Given the description of an element on the screen output the (x, y) to click on. 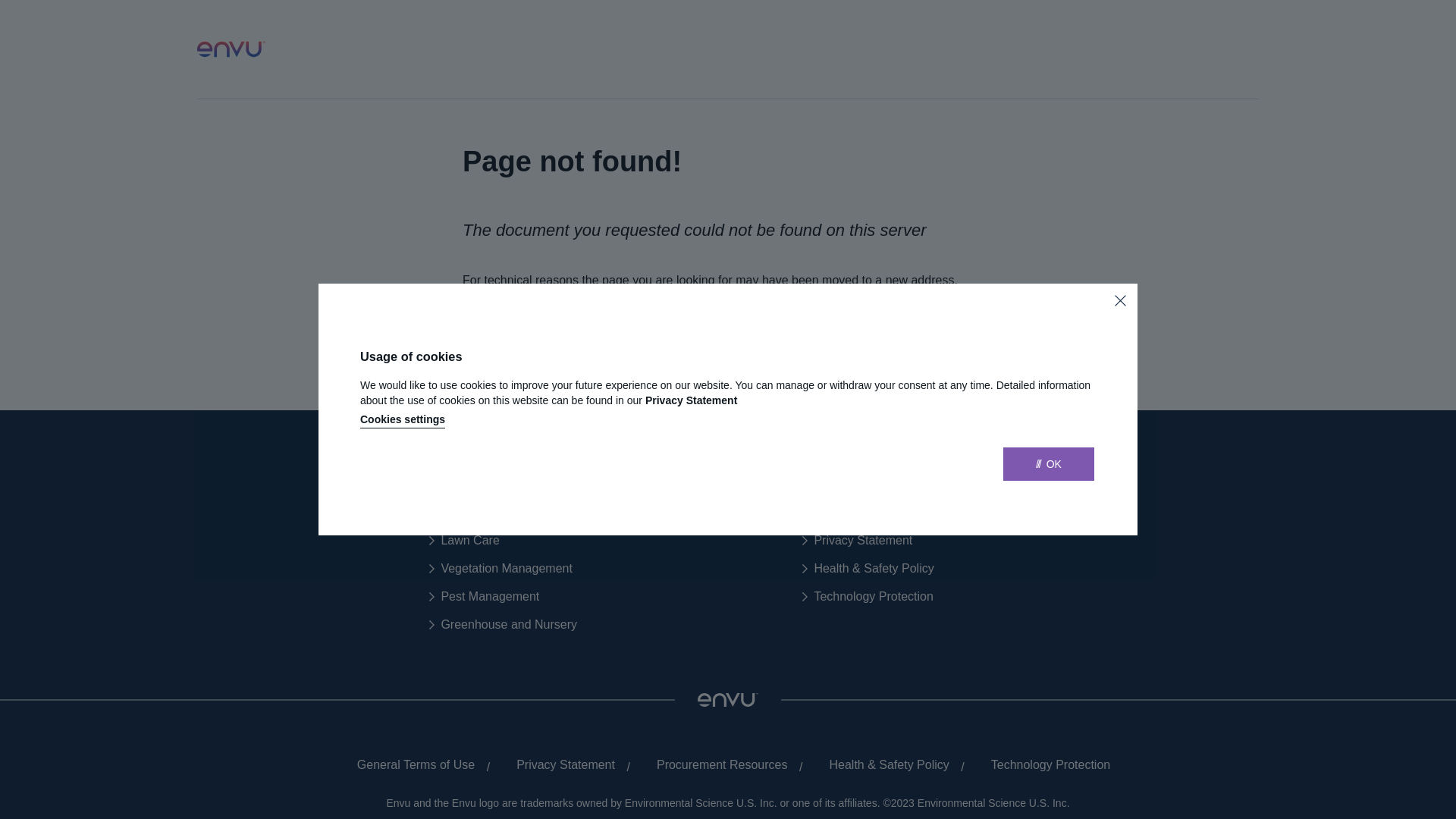
Health & Safety Policy Element type: text (882, 764)
Cookies settings Element type: text (402, 420)
General Terms of Use Element type: text (866, 512)
Lawn Care Element type: text (463, 540)
Pest Management Element type: text (484, 596)
Privacy Statement Element type: text (560, 764)
Golf Course Element type: text (467, 512)
Privacy Statement Element type: text (857, 540)
General Terms of Use Element type: text (409, 764)
Health & Safety Policy Element type: text (867, 568)
Vegetation Management Element type: text (500, 568)
Procurement Resources Element type: text (716, 764)
Greenhouse and Nursery Element type: text (503, 624)
OK Element type: text (1048, 463)
Technology Protection Element type: text (867, 596)
Privacy Statement Element type: text (691, 400)
Technology Protection Element type: text (1044, 764)
